Given the description of an element on the screen output the (x, y) to click on. 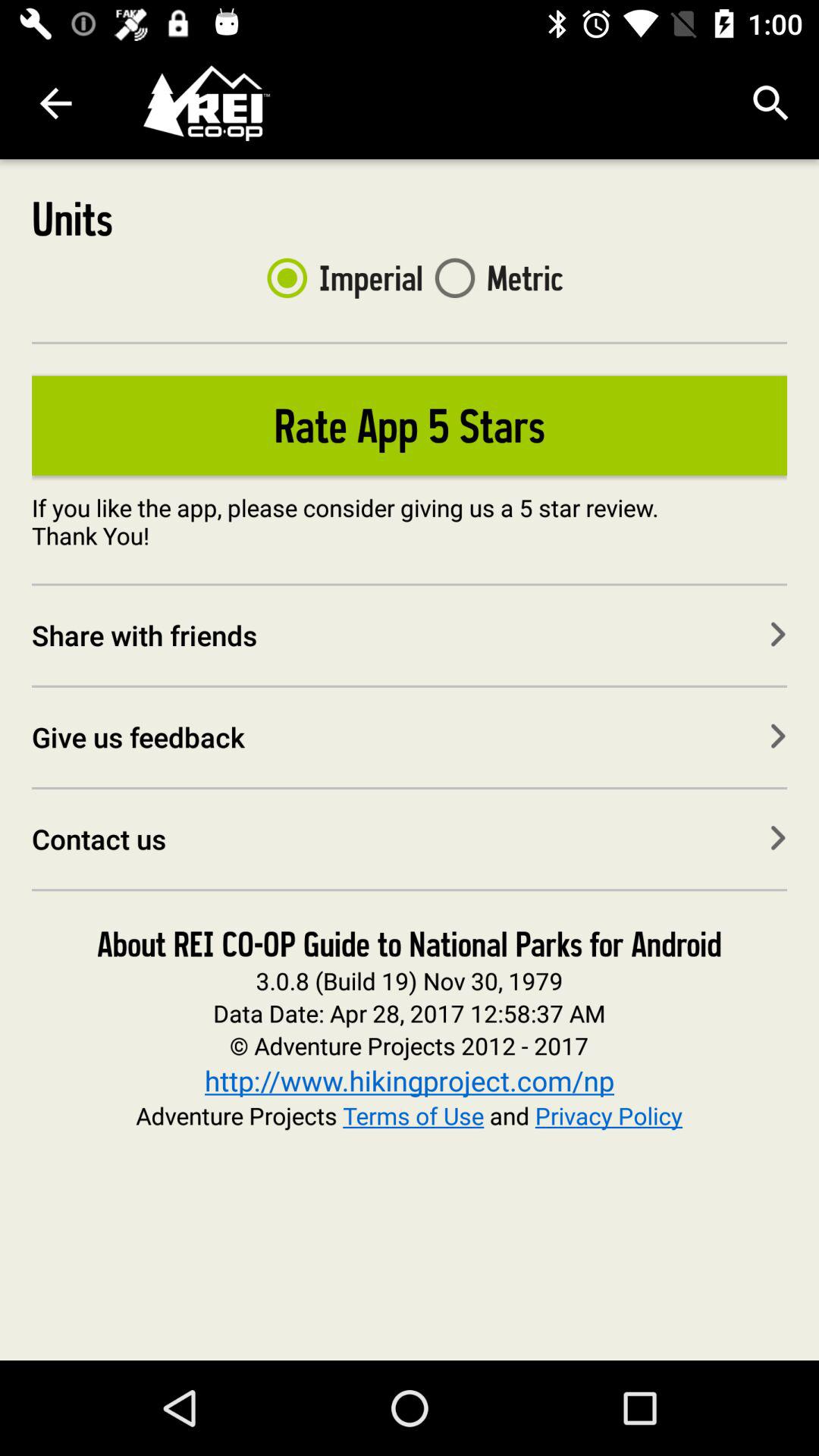
click item next to units (339, 277)
